Given the description of an element on the screen output the (x, y) to click on. 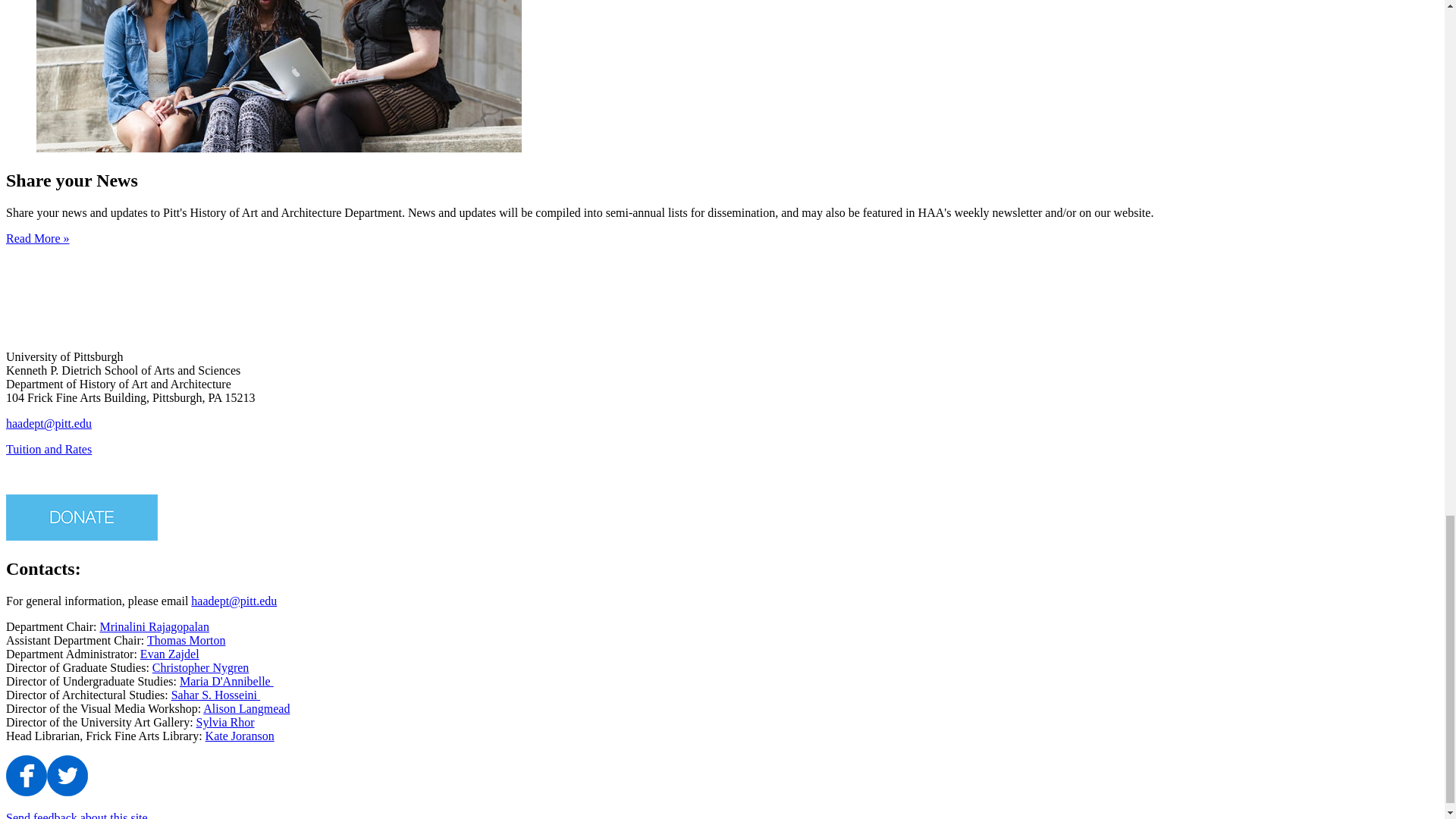
Evan Zajdel (169, 653)
Maria D'Annibelle  (226, 680)
Thomas Morton (186, 640)
Mrinalini Rajagopalan (154, 626)
Tuition and Rates (48, 449)
Christopher Nygren (200, 667)
Mrinalini Rajagopalan (154, 626)
